Given the description of an element on the screen output the (x, y) to click on. 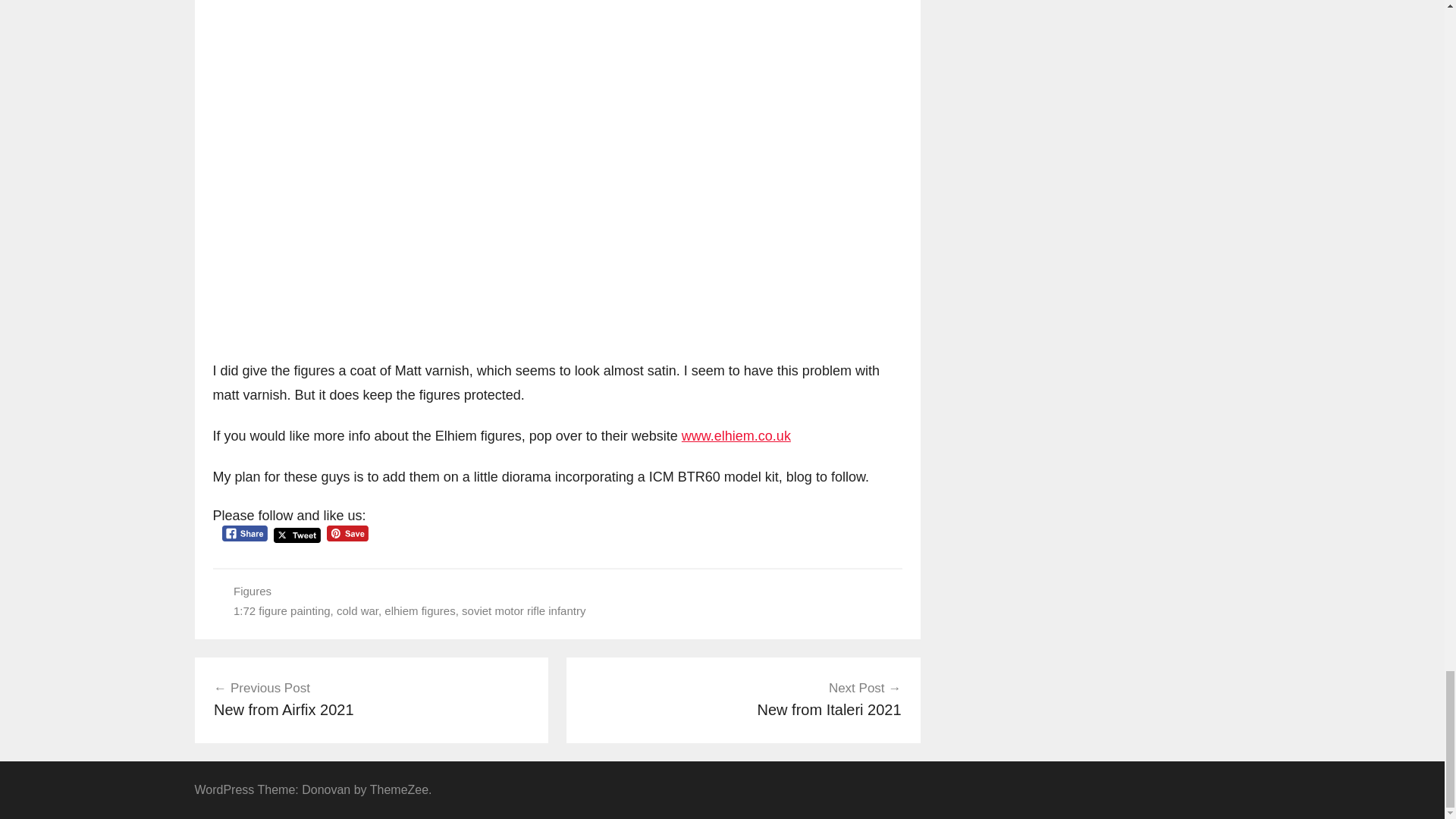
Tweet (296, 535)
Facebook Share (244, 533)
1:72 figure painting (281, 610)
Figures (251, 590)
www.elhiem.co.uk (743, 699)
elhiem figures (735, 435)
soviet motor rifle infantry (419, 610)
Pin Share (371, 699)
cold war (523, 610)
